Given the description of an element on the screen output the (x, y) to click on. 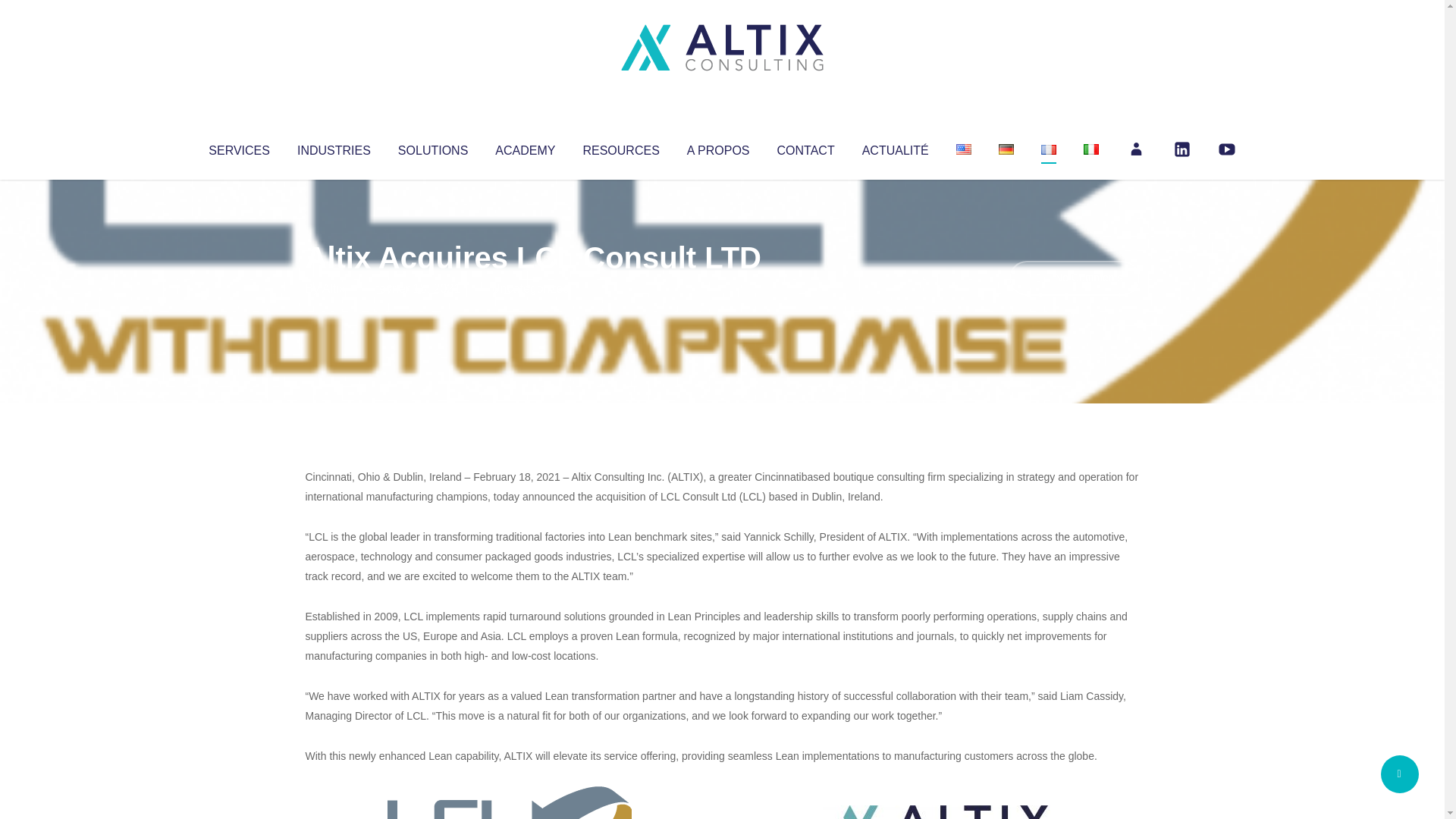
SOLUTIONS (432, 146)
SERVICES (238, 146)
Altix (333, 287)
RESOURCES (620, 146)
ACADEMY (524, 146)
Uncategorized (530, 287)
No Comments (1073, 278)
INDUSTRIES (334, 146)
Articles par Altix (333, 287)
A PROPOS (718, 146)
